Given the description of an element on the screen output the (x, y) to click on. 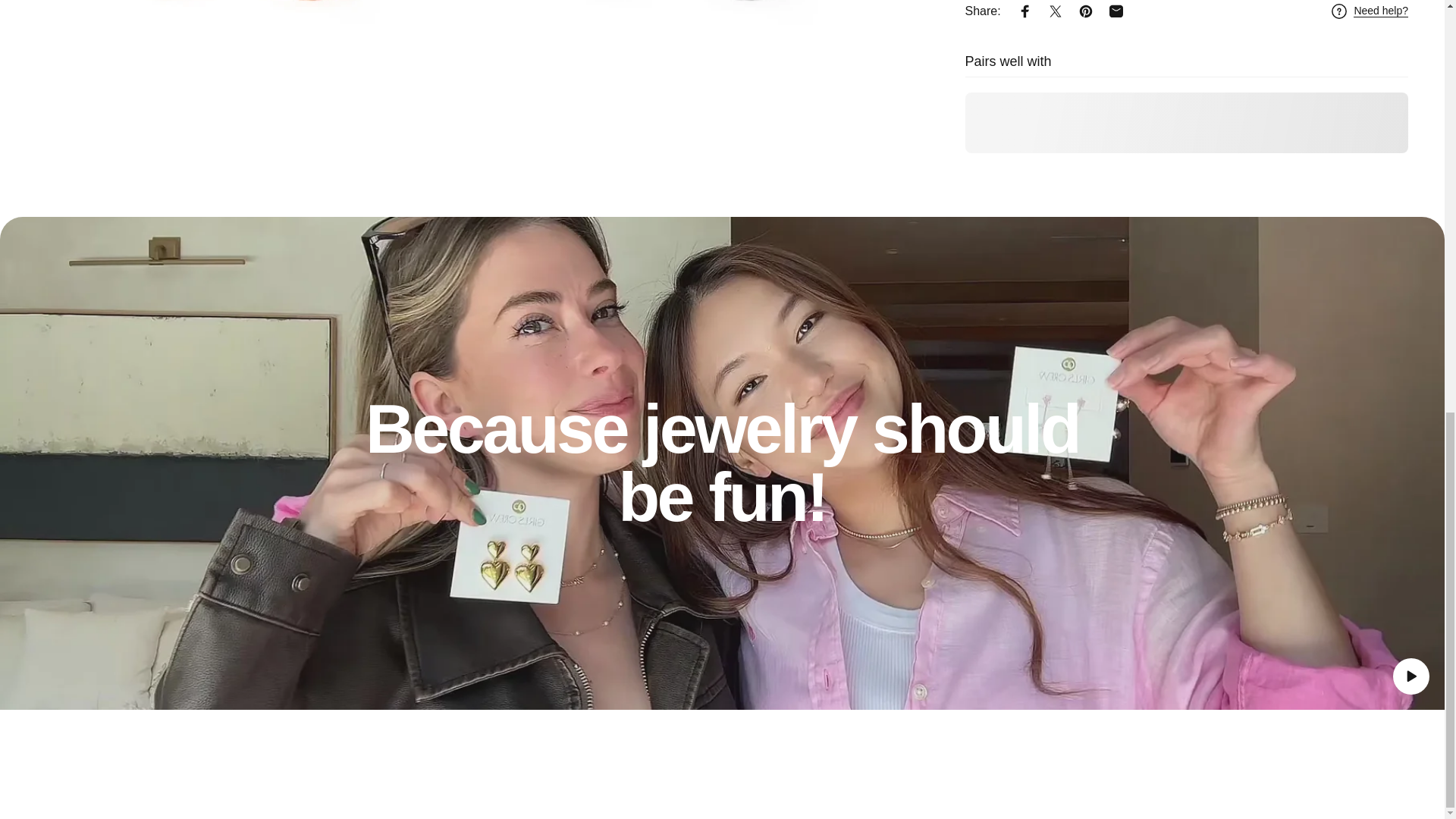
Share by Email (1115, 1)
Share on Facebook (1025, 1)
Tweet on Twitter (1055, 1)
Pin on Pinterest (1085, 1)
